Given the description of an element on the screen output the (x, y) to click on. 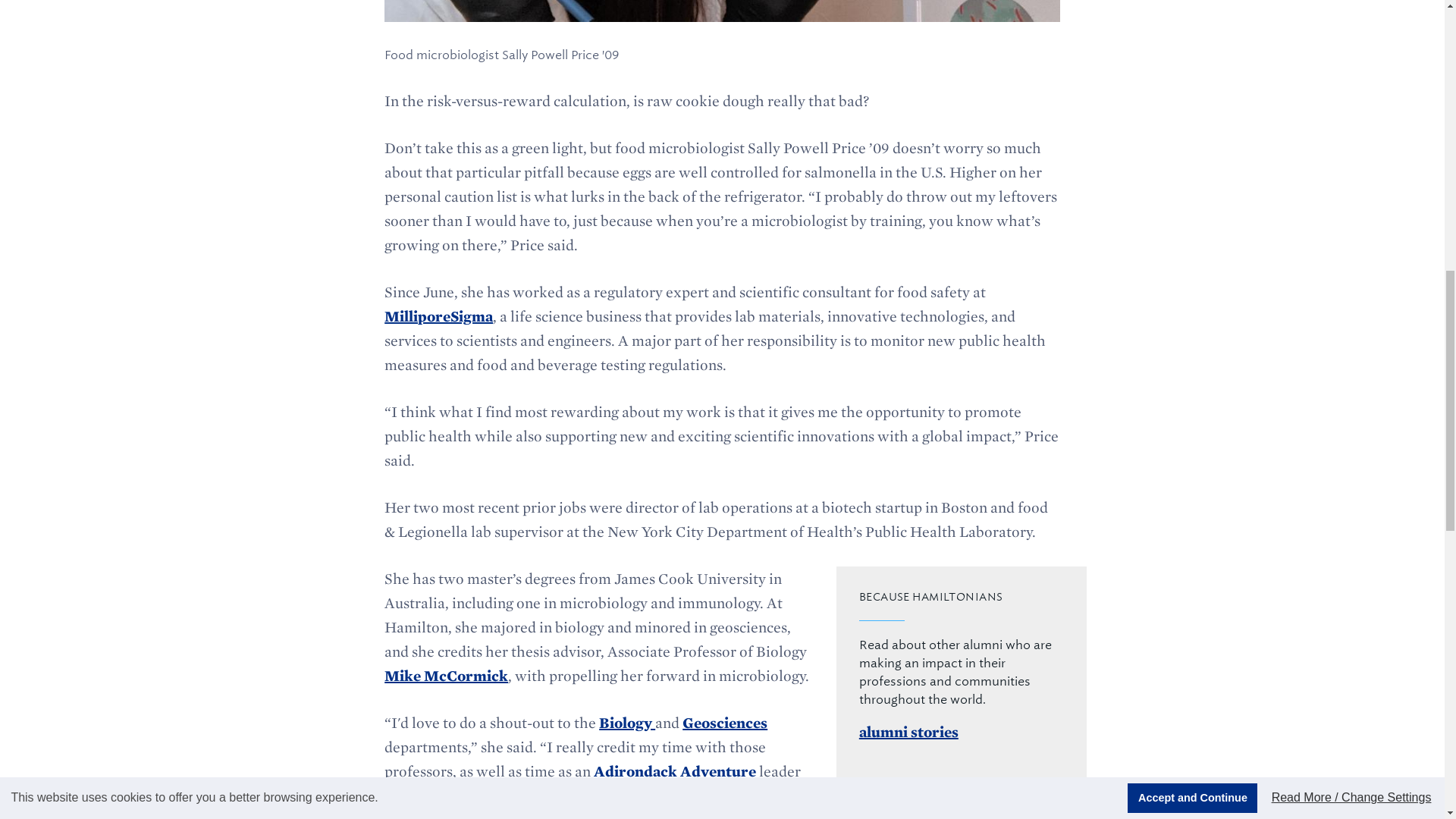
Biology (626, 722)
MilliporeSigma (438, 316)
alumni stories (908, 731)
Geosciences (724, 722)
Mike McCormick (446, 675)
Adirondack Adventure (674, 771)
